Given the description of an element on the screen output the (x, y) to click on. 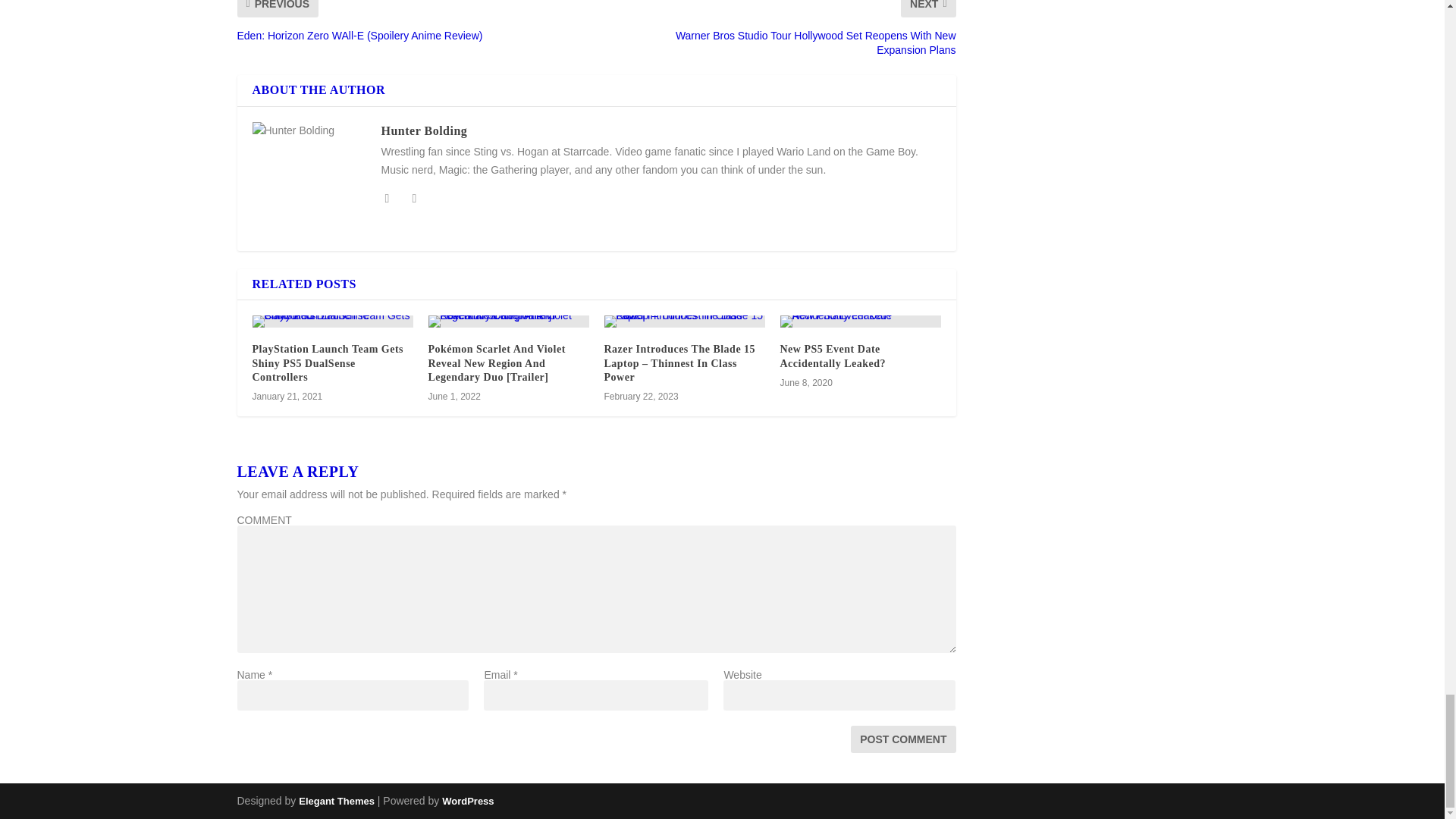
Post Comment (902, 738)
Hunter Bolding (423, 130)
PlayStation Launch Team Gets Shiny PS5 DualSense Controllers (327, 362)
